Given the description of an element on the screen output the (x, y) to click on. 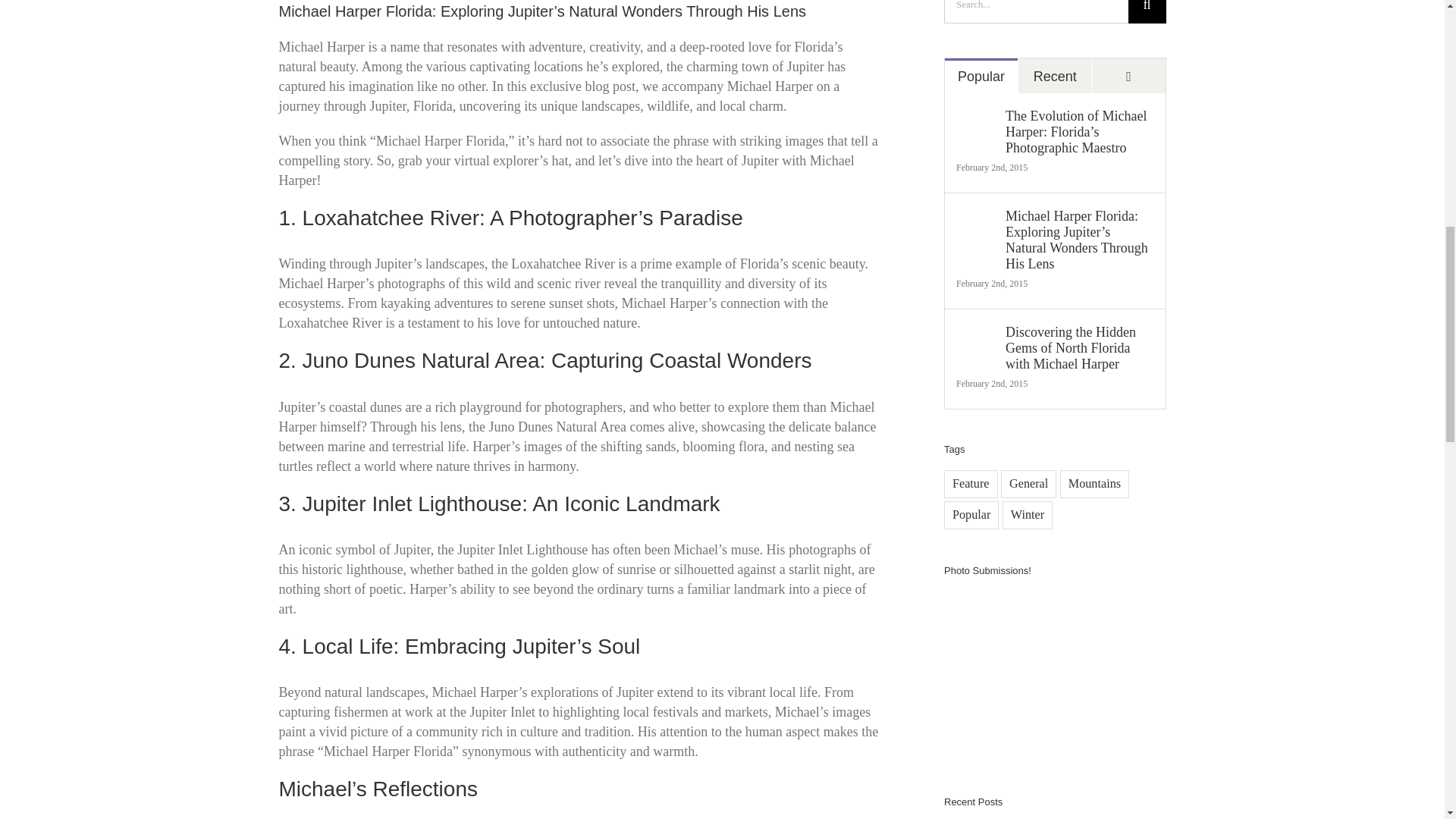
Recent (1053, 76)
Popular (980, 76)
Comments (1128, 76)
